Given the description of an element on the screen output the (x, y) to click on. 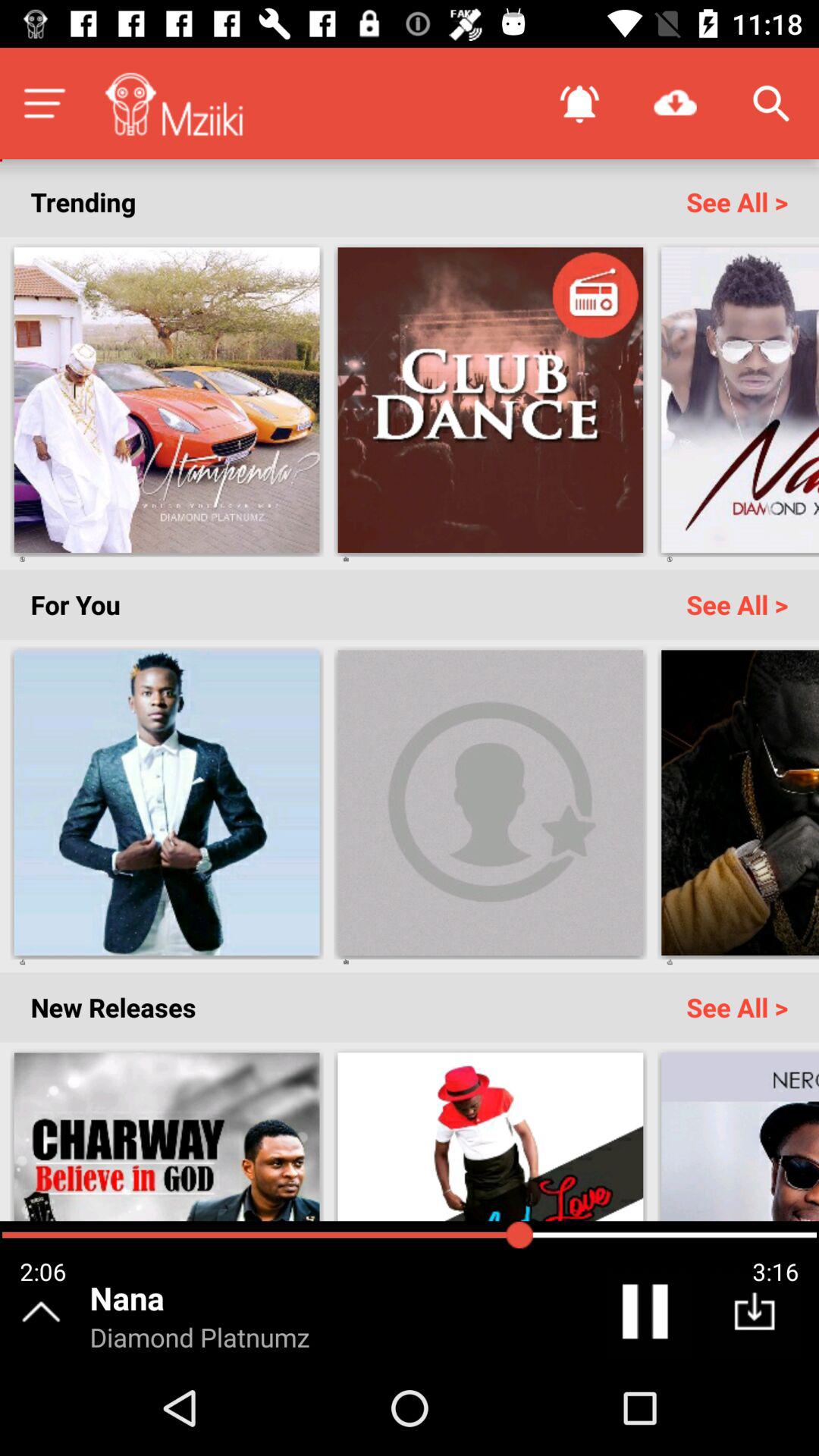
toggle menu (44, 103)
